Given the description of an element on the screen output the (x, y) to click on. 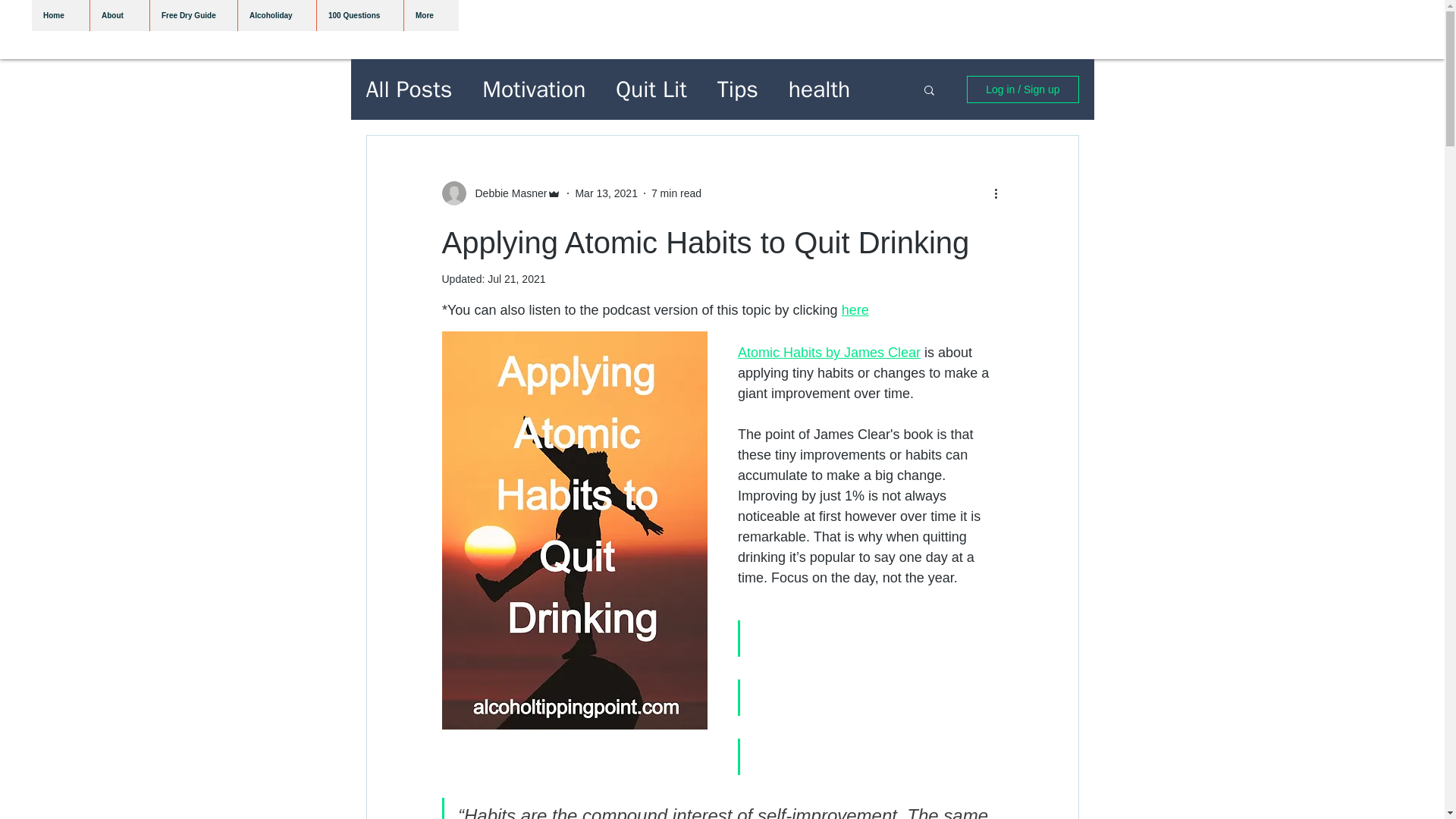
Motivation (533, 89)
Mar 13, 2021 (606, 192)
About (118, 15)
Jul 21, 2021 (515, 278)
here (854, 309)
Alcoholiday (276, 15)
Debbie Masner (506, 192)
All Posts (408, 89)
health (819, 89)
7 min read (675, 192)
